Given the description of an element on the screen output the (x, y) to click on. 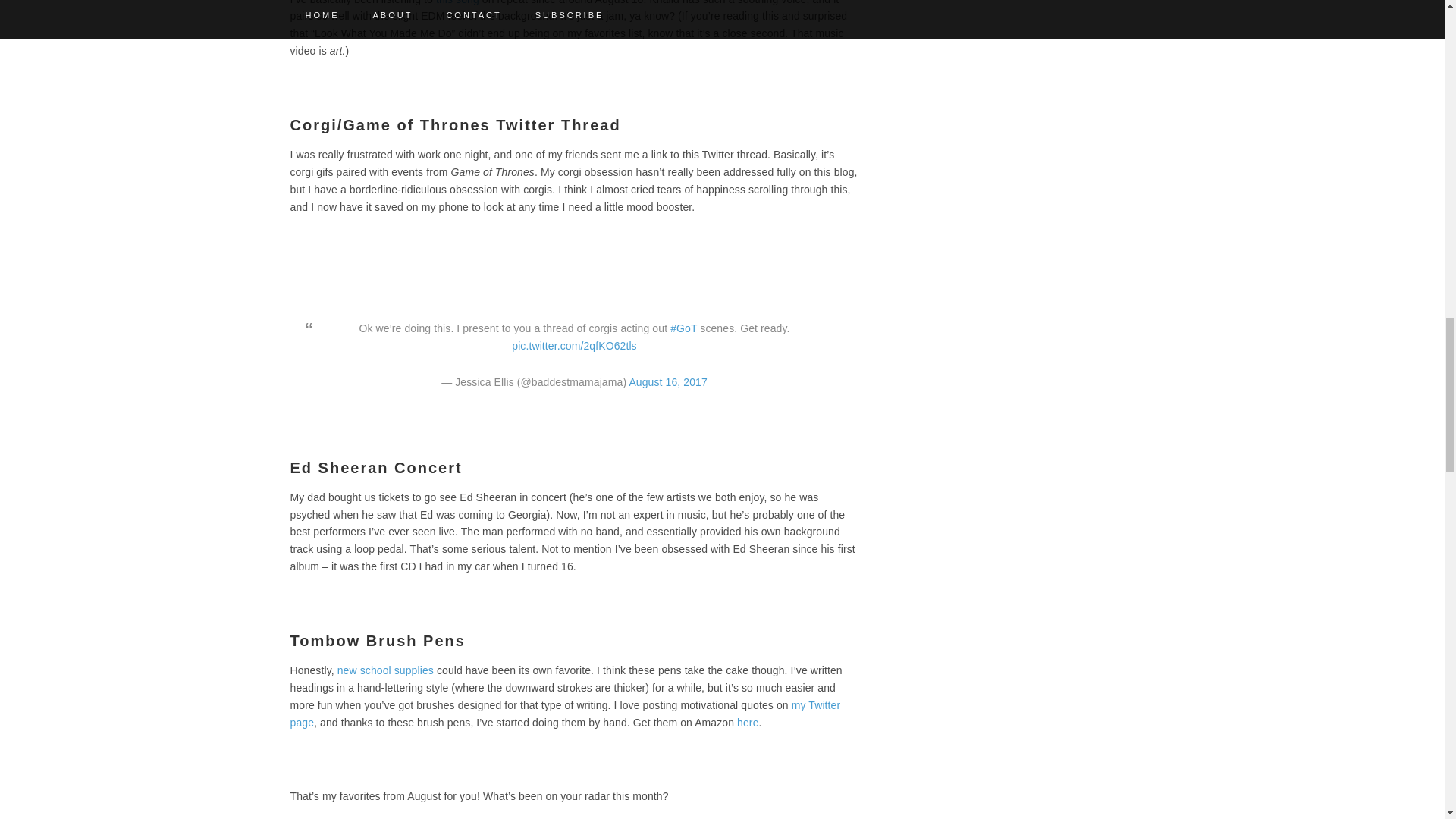
my Twitter page (564, 713)
new school supplies (385, 670)
this song (457, 2)
here (747, 722)
August 16, 2017 (667, 381)
